Given the description of an element on the screen output the (x, y) to click on. 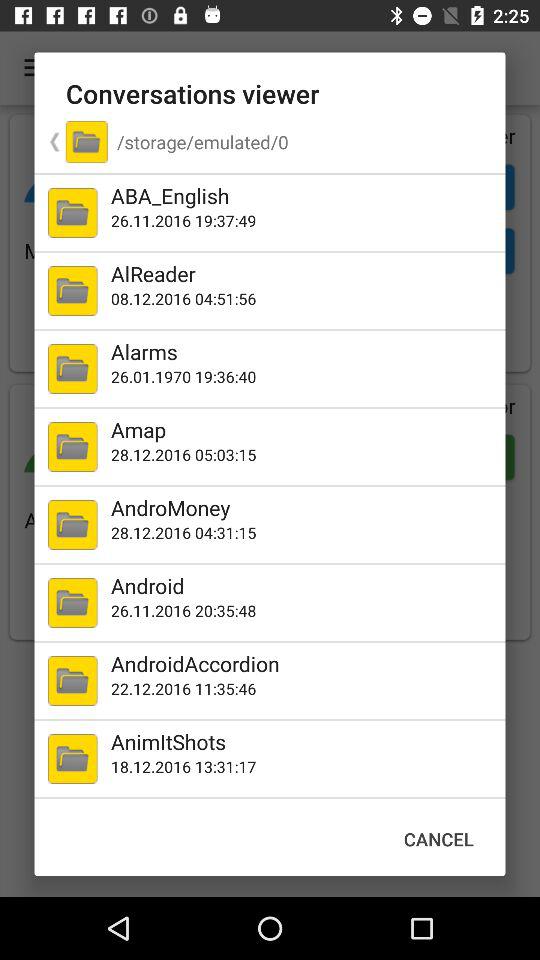
swipe until alreader icon (304, 273)
